Given the description of an element on the screen output the (x, y) to click on. 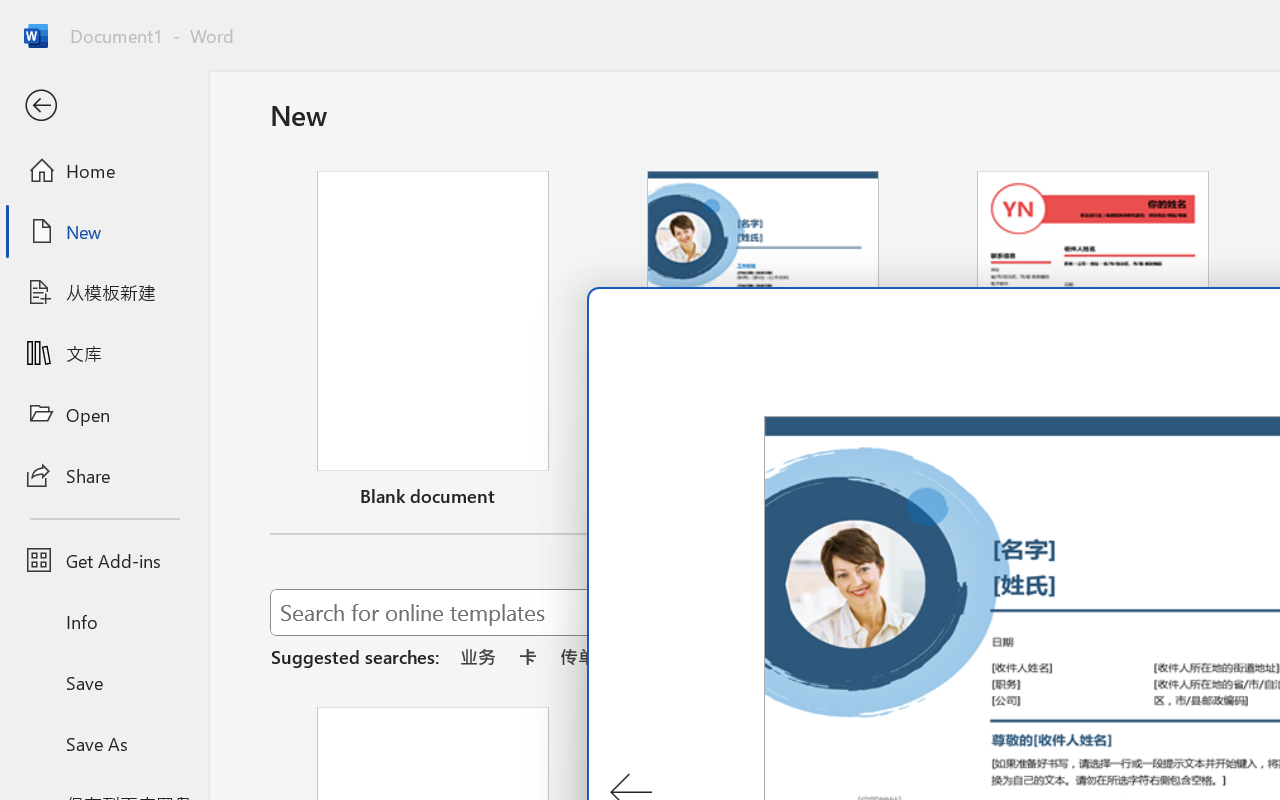
Info (104, 621)
Get Add-ins (104, 560)
Back (104, 106)
Save As (104, 743)
New (104, 231)
